Given the description of an element on the screen output the (x, y) to click on. 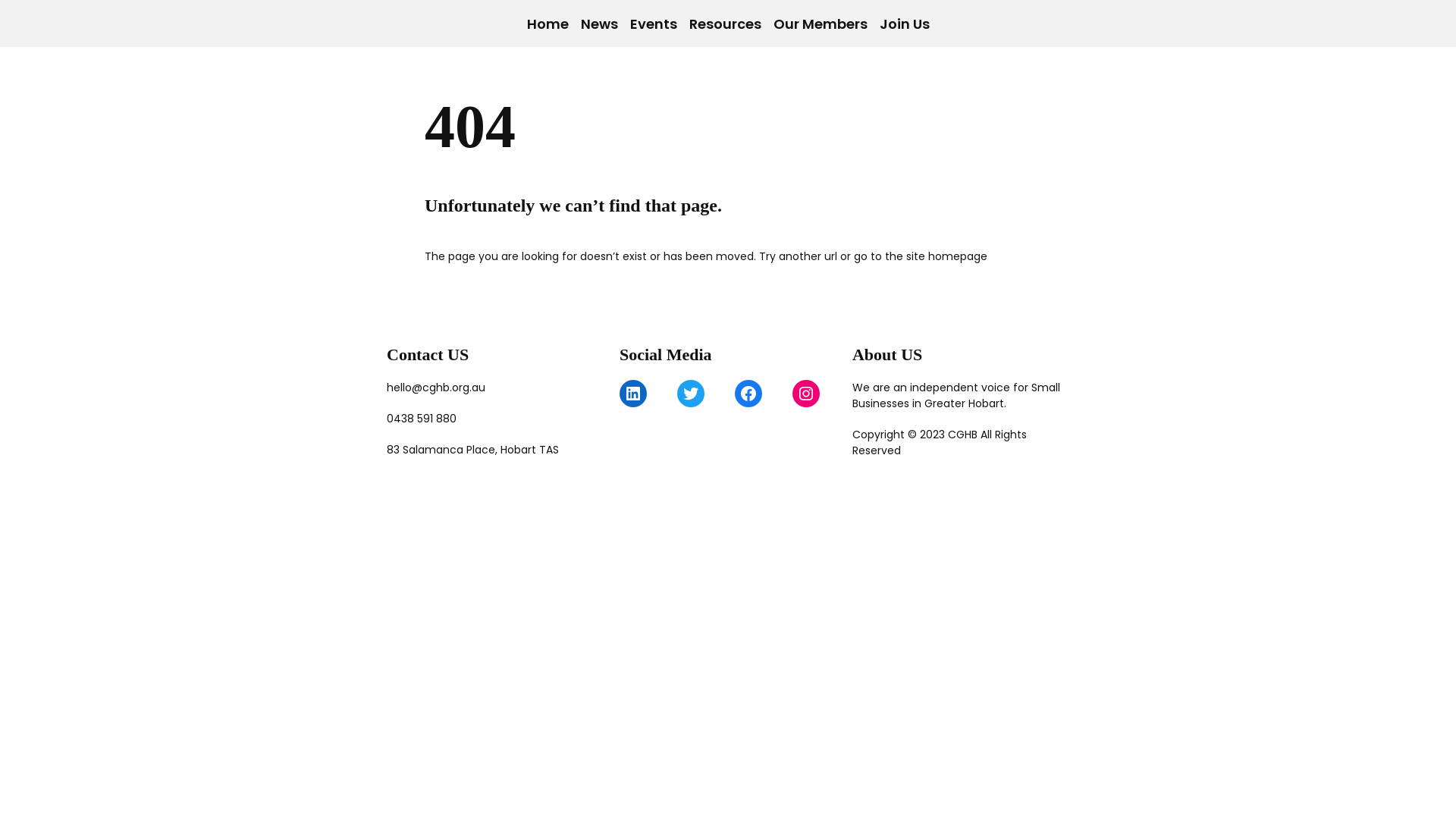
Resources Element type: text (724, 23)
Home Element type: text (546, 23)
Events Element type: text (652, 23)
Instagram Element type: text (805, 393)
Facebook Element type: text (748, 393)
Join Us Element type: text (904, 23)
Our Members Element type: text (820, 23)
LinkedIn Element type: text (632, 393)
News Element type: text (599, 23)
Twitter Element type: text (690, 393)
